Given the description of an element on the screen output the (x, y) to click on. 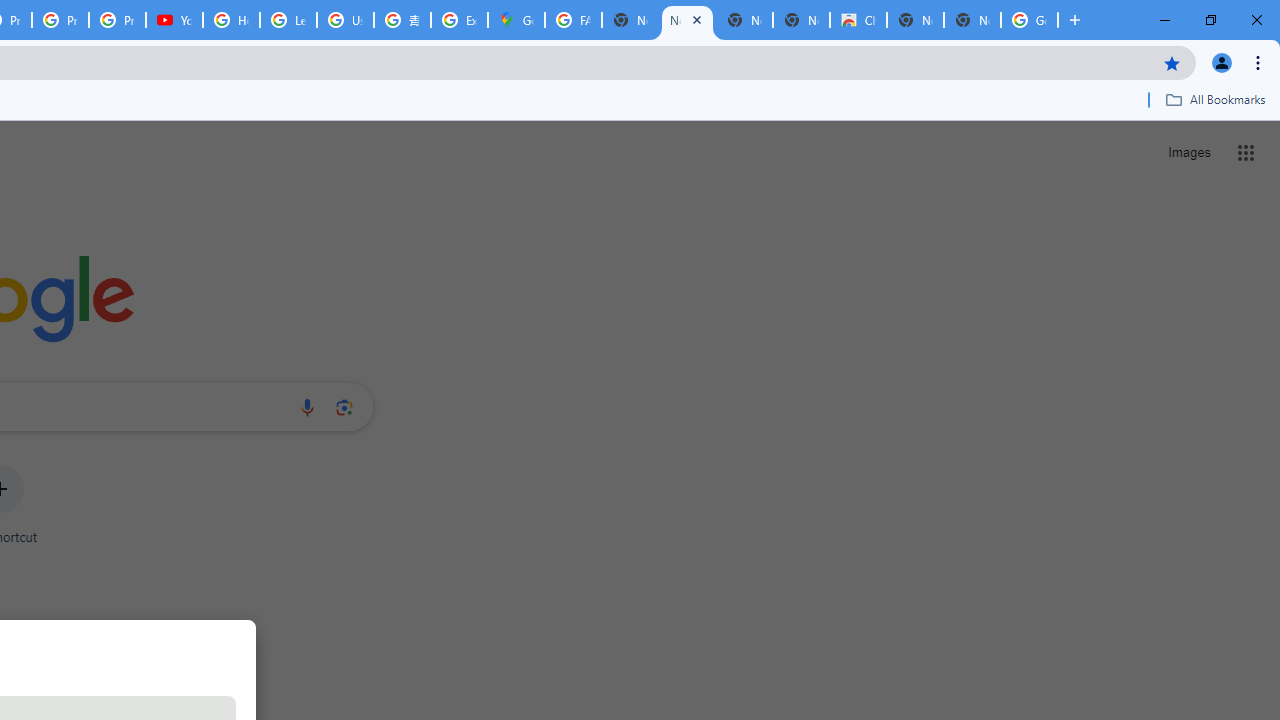
Privacy Checkup (116, 20)
All Bookmarks (1215, 99)
Google Images (1029, 20)
Privacy Checkup (60, 20)
Google Maps (516, 20)
New Tab (971, 20)
